Given the description of an element on the screen output the (x, y) to click on. 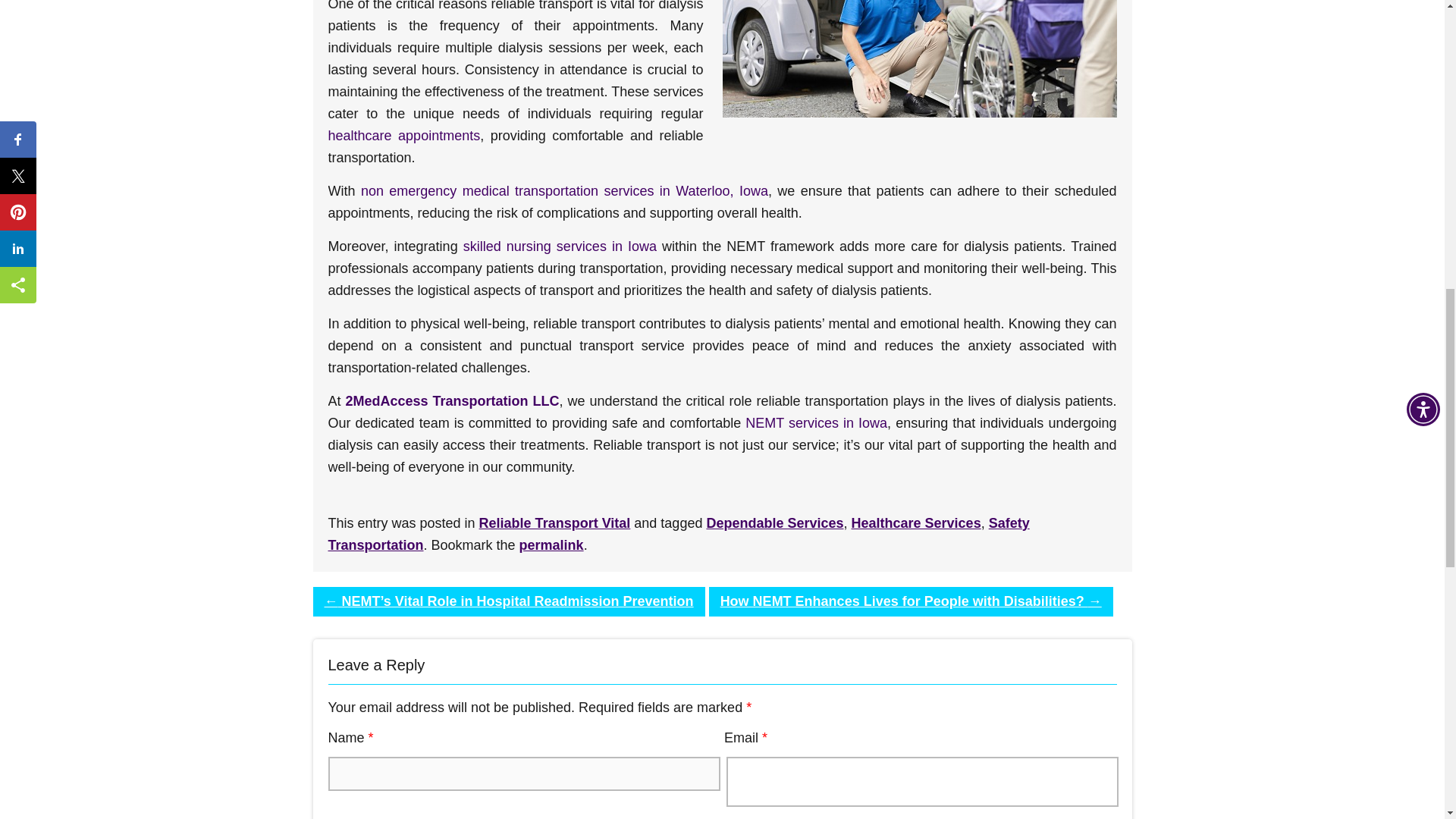
Healthcare Services (916, 522)
NEMT services in Iowa (815, 422)
healthcare appointments (403, 134)
permalink (551, 544)
skilled nursing services in Iowa (559, 245)
Safety Transportation (678, 533)
Reliable Transport Vital (554, 522)
Dependable Services (774, 522)
